Given the description of an element on the screen output the (x, y) to click on. 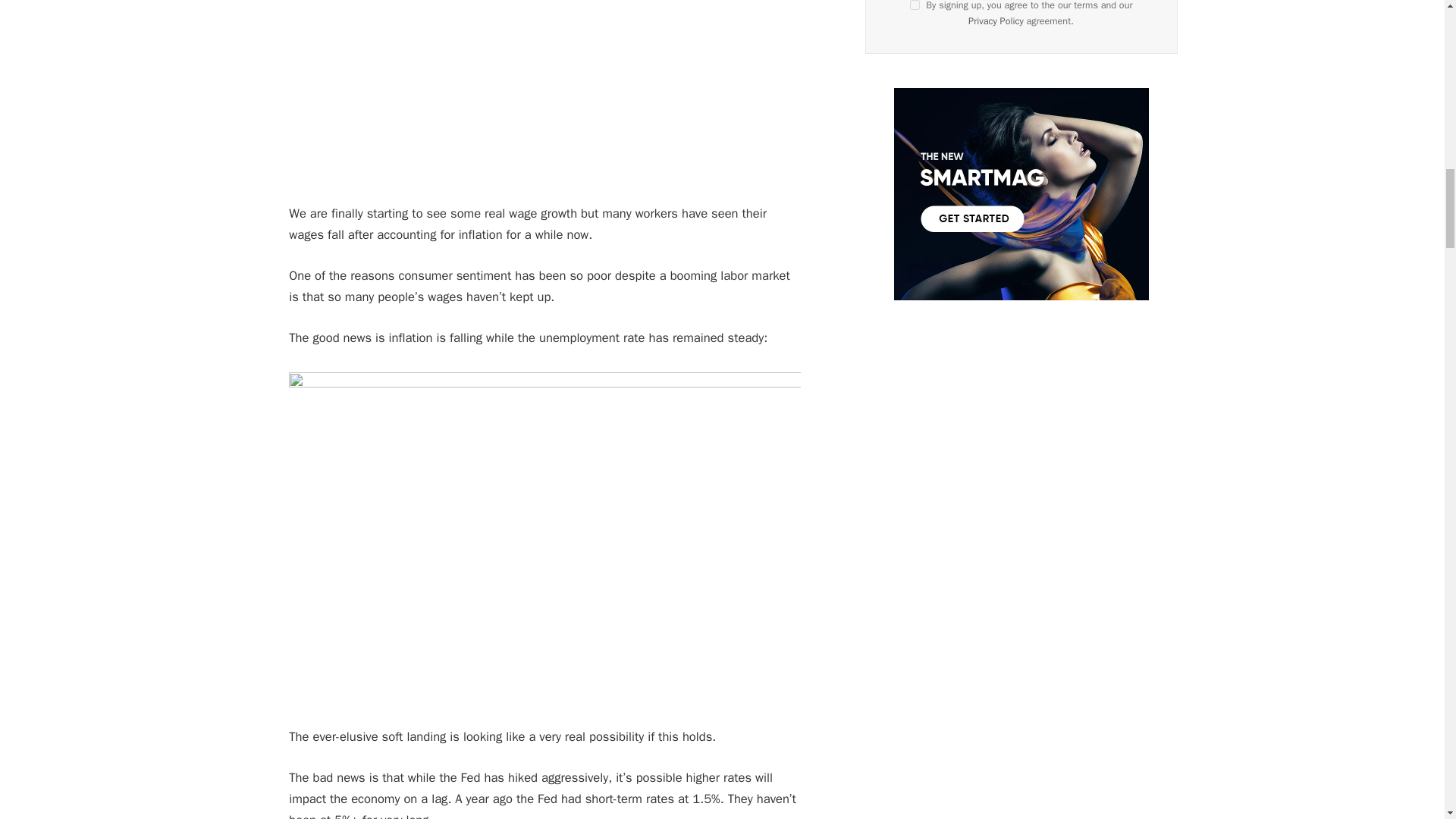
on (915, 4)
